Given the description of an element on the screen output the (x, y) to click on. 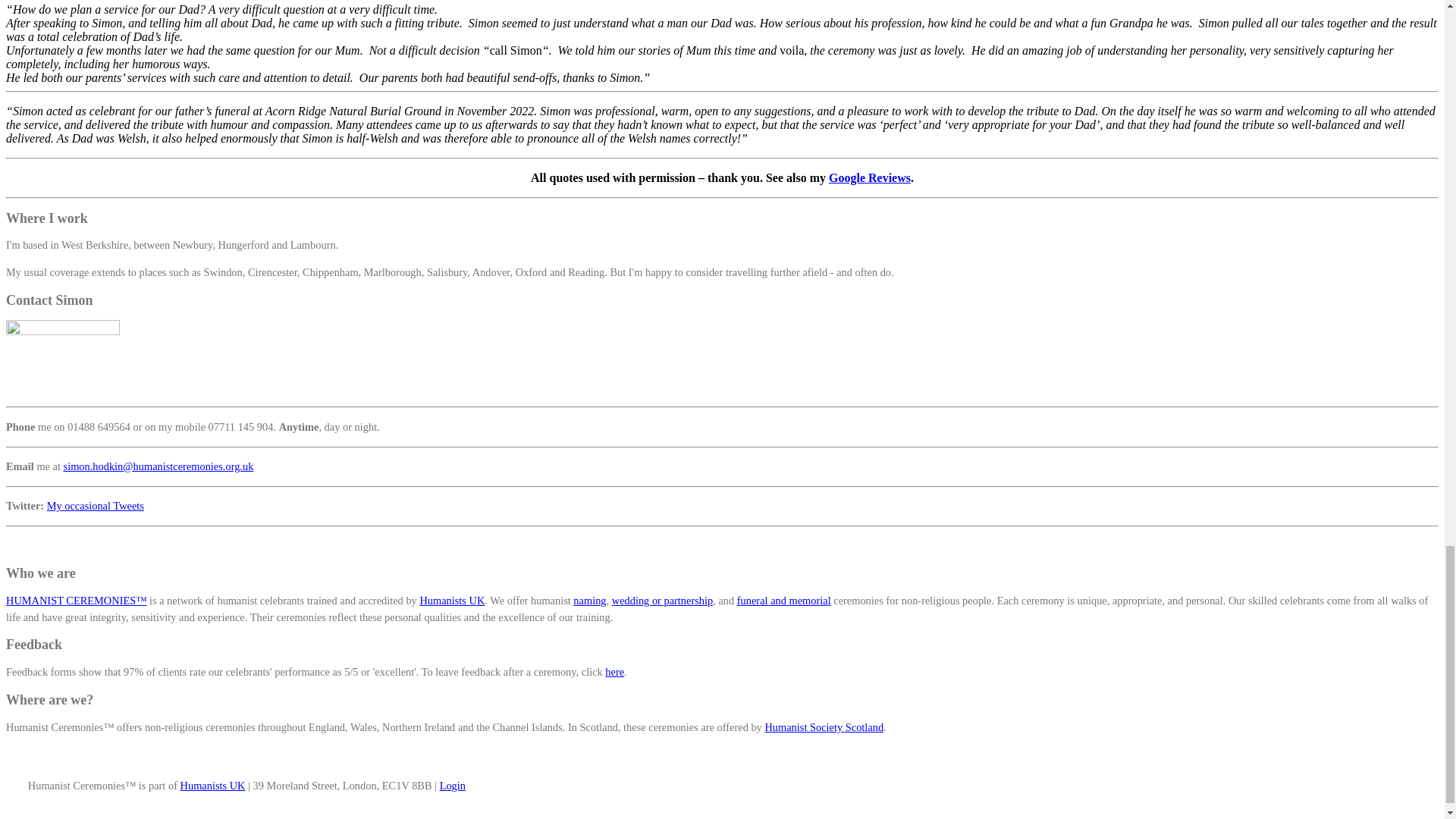
Humanists UK (213, 785)
My occasional Tweets (95, 505)
Humanists UK (451, 600)
here (614, 671)
wedding or partnership (662, 600)
funeral and memorial (783, 600)
Humanist Society Scotland (823, 727)
naming (589, 600)
Google Reviews (869, 177)
